Given the description of an element on the screen output the (x, y) to click on. 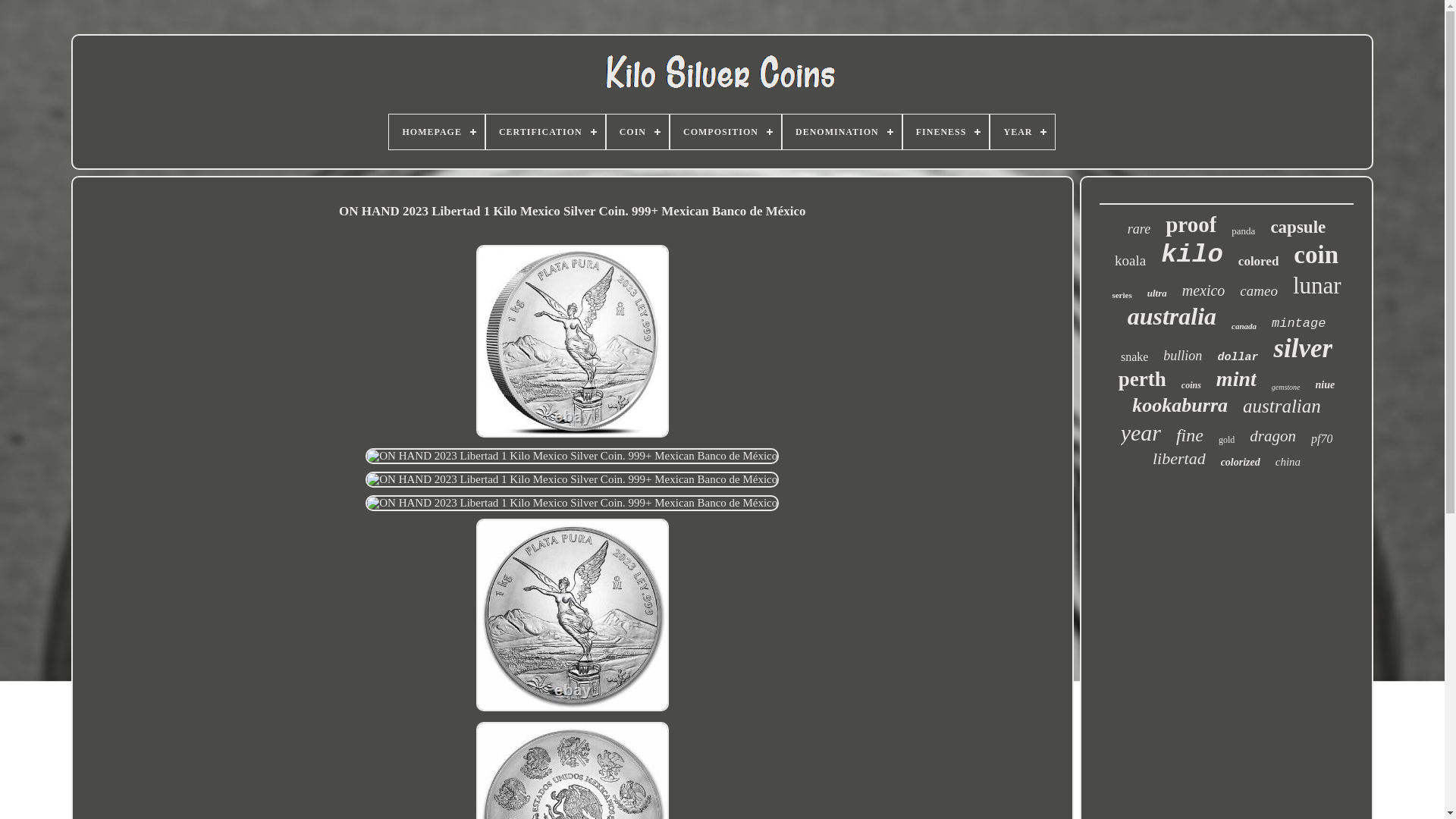
CERTIFICATION (545, 131)
HOMEPAGE (435, 131)
COIN (637, 131)
